Given the description of an element on the screen output the (x, y) to click on. 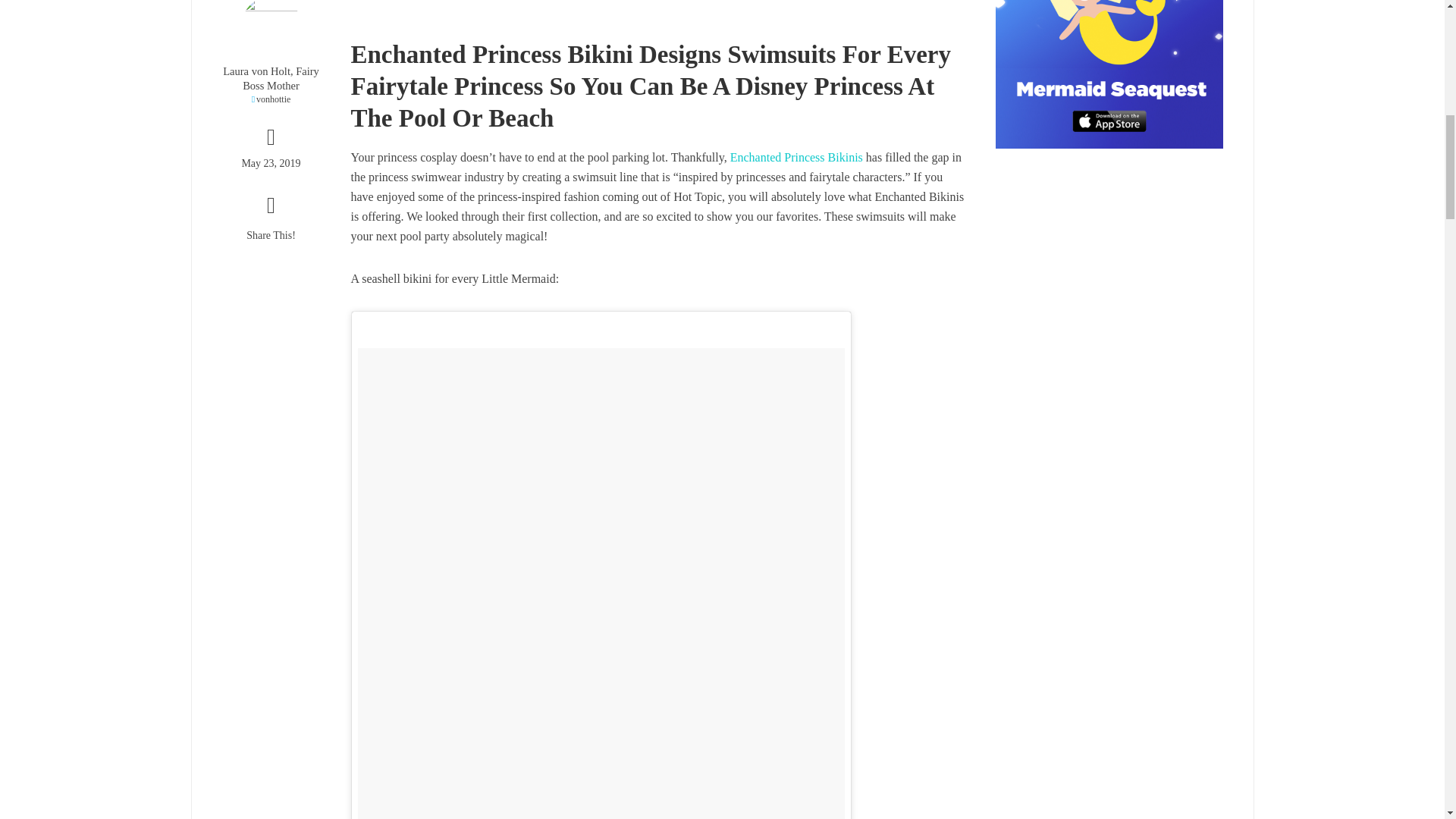
Enchanted Princess Bikinis (796, 158)
Laura von Holt, Fairy Boss Mother (270, 78)
vonhottie (270, 99)
